Given the description of an element on the screen output the (x, y) to click on. 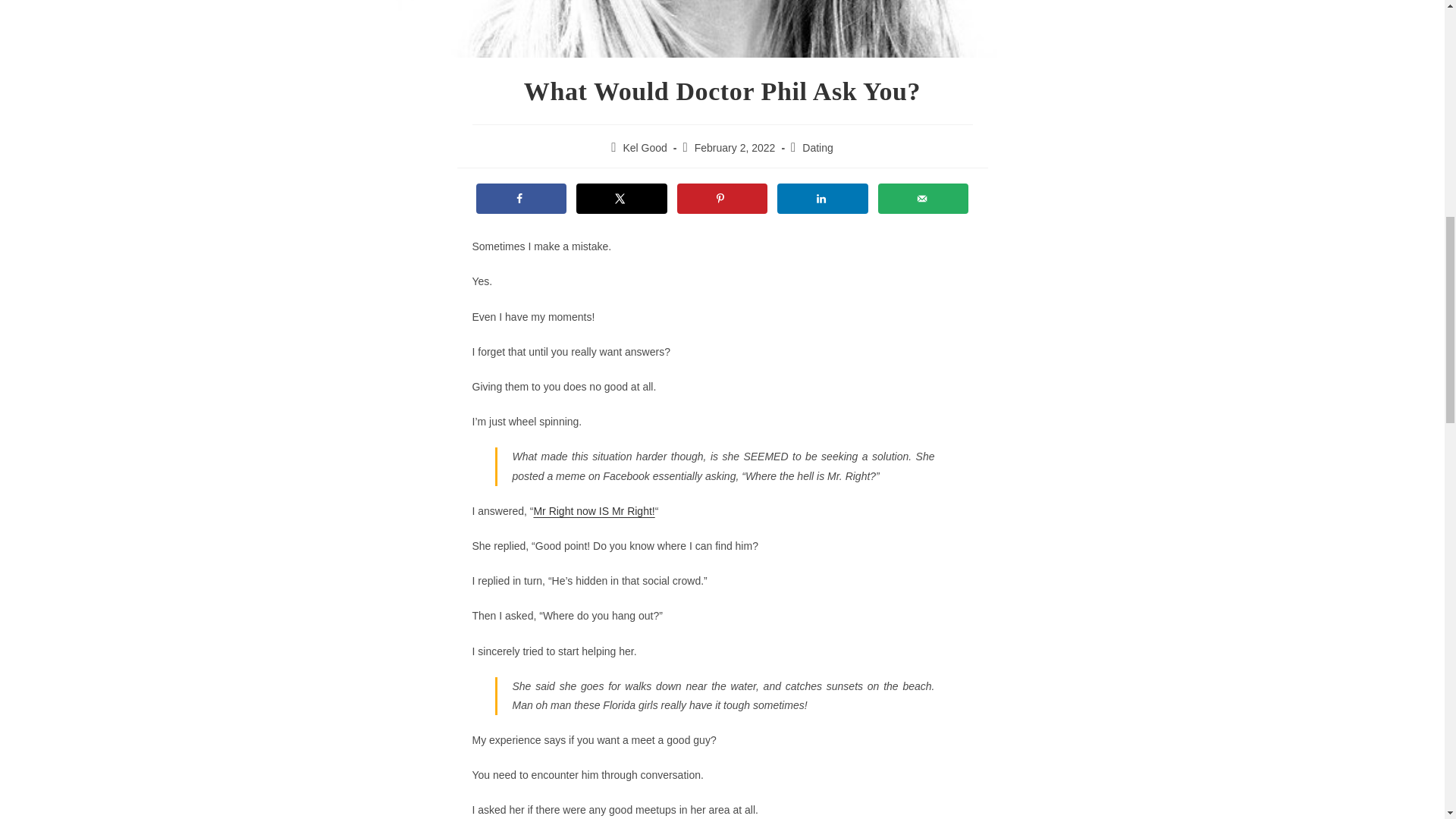
Send over email (923, 198)
Save to Pinterest (722, 198)
Share on Facebook (521, 198)
Dating (817, 147)
Posts by Kel Good (644, 147)
Mr Right now IS Mr Right! (592, 510)
Share on X (621, 198)
Share on LinkedIn (822, 198)
Kel Good (644, 147)
